Given the description of an element on the screen output the (x, y) to click on. 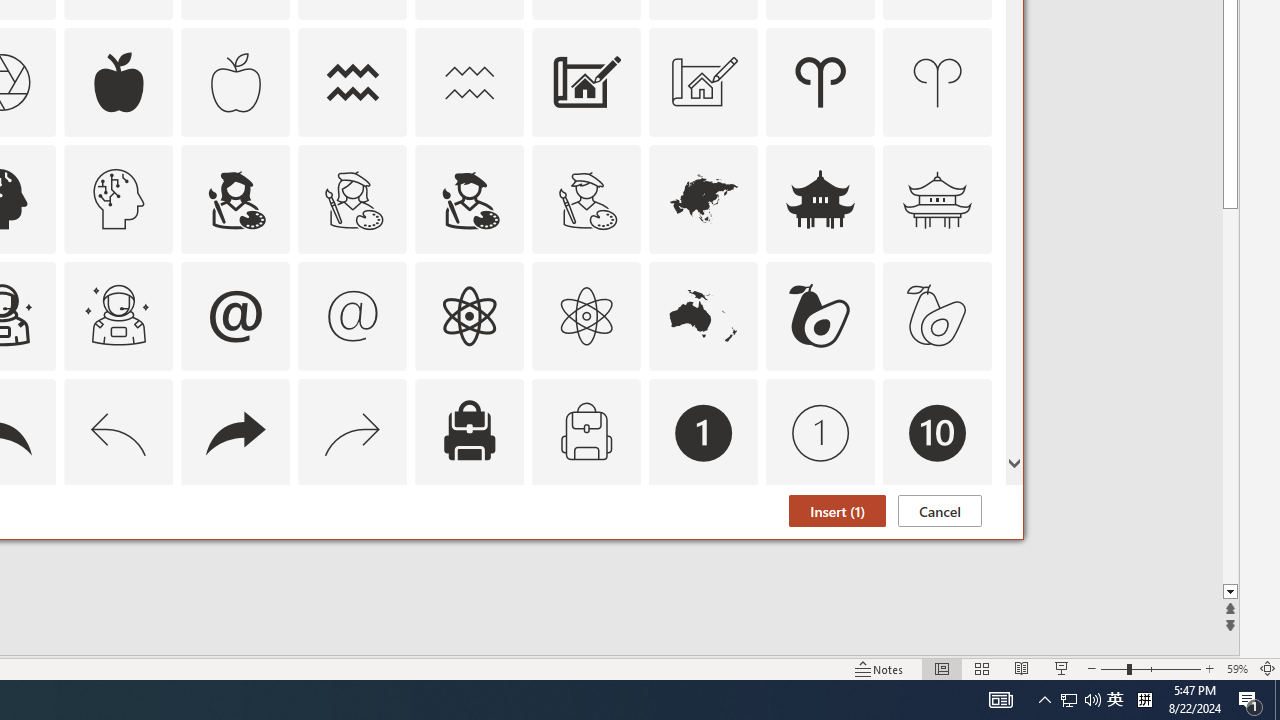
AutomationID: Icons_Back_RTL_M (353, 432)
AutomationID: Icons_Badge10 (938, 432)
AutomationID: Icons_Avocado (820, 316)
AutomationID: Icons_Badge9 (820, 550)
AutomationID: Icons_Back_LTR_M (118, 432)
AutomationID: Icons_ArtistFemale_M (353, 198)
AutomationID: Icons_At (235, 316)
